Given the description of an element on the screen output the (x, y) to click on. 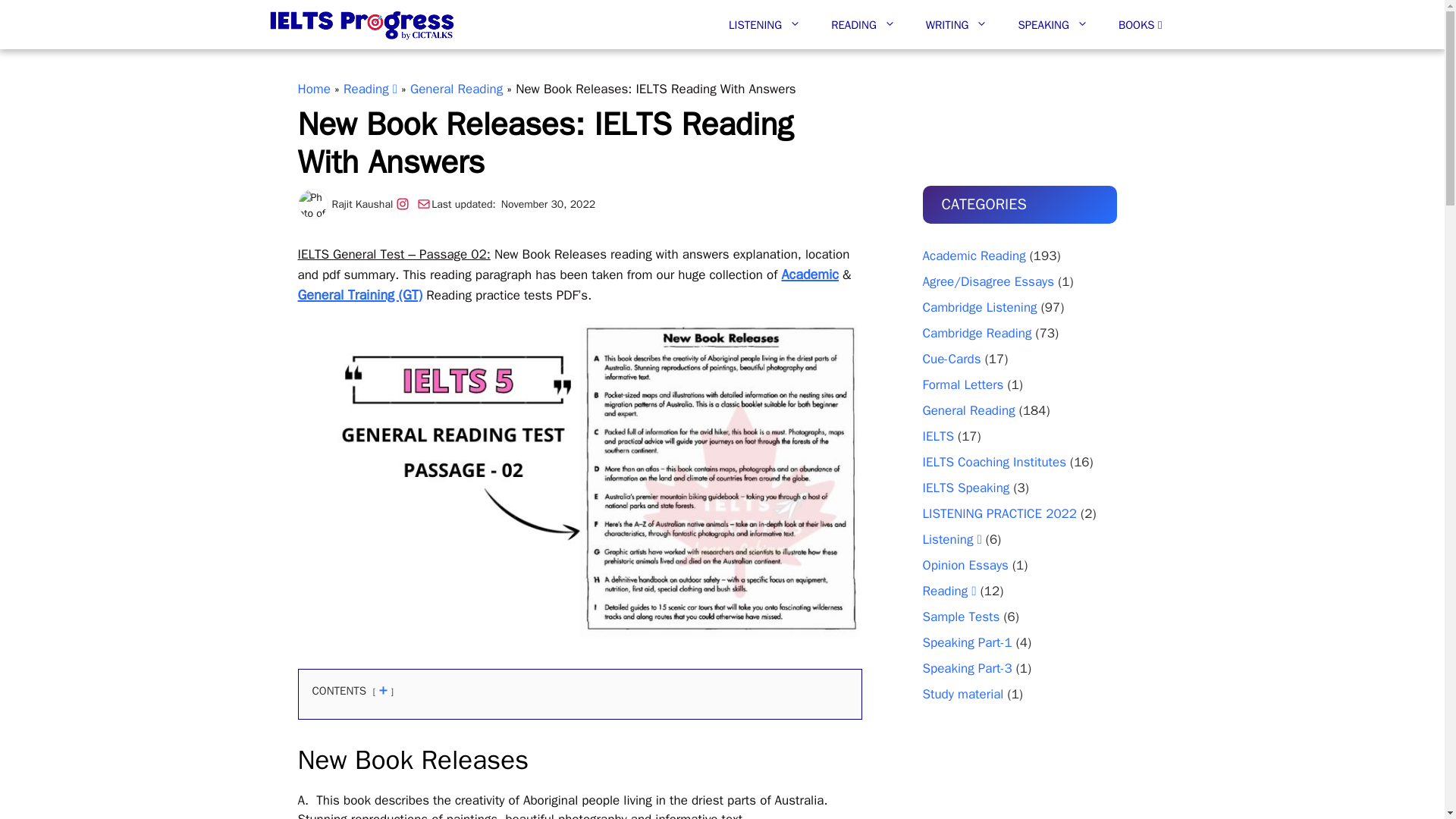
LISTENING (764, 23)
Instagram (402, 203)
Mail (423, 203)
Rajit Kaushal (362, 204)
Home (313, 89)
General Reading (456, 89)
SPEAKING (1052, 23)
Academic (809, 274)
READING (863, 23)
IELTS Progress (361, 24)
